Given the description of an element on the screen output the (x, y) to click on. 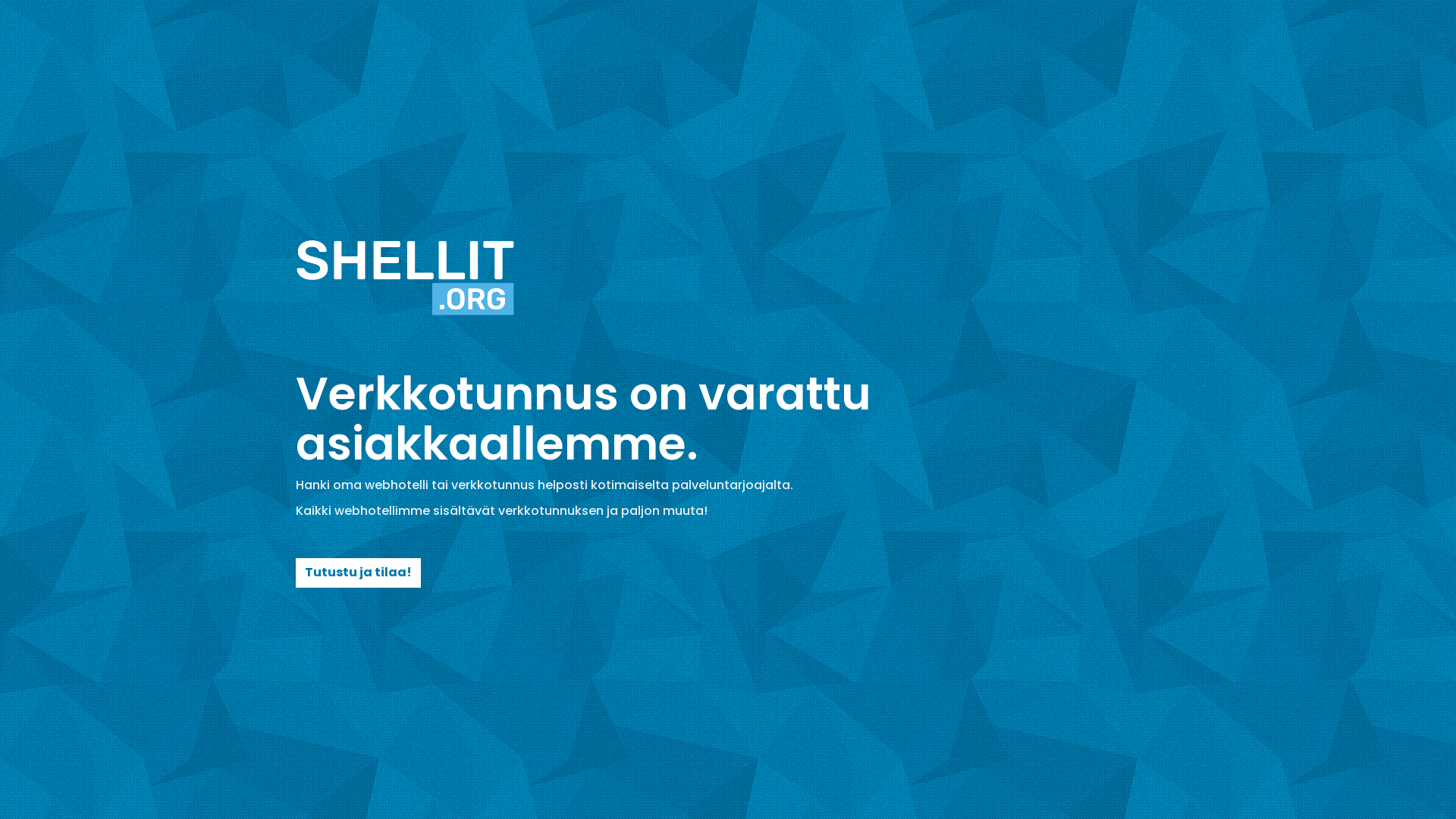
Tutustu ja tilaa! Element type: text (357, 572)
